Given the description of an element on the screen output the (x, y) to click on. 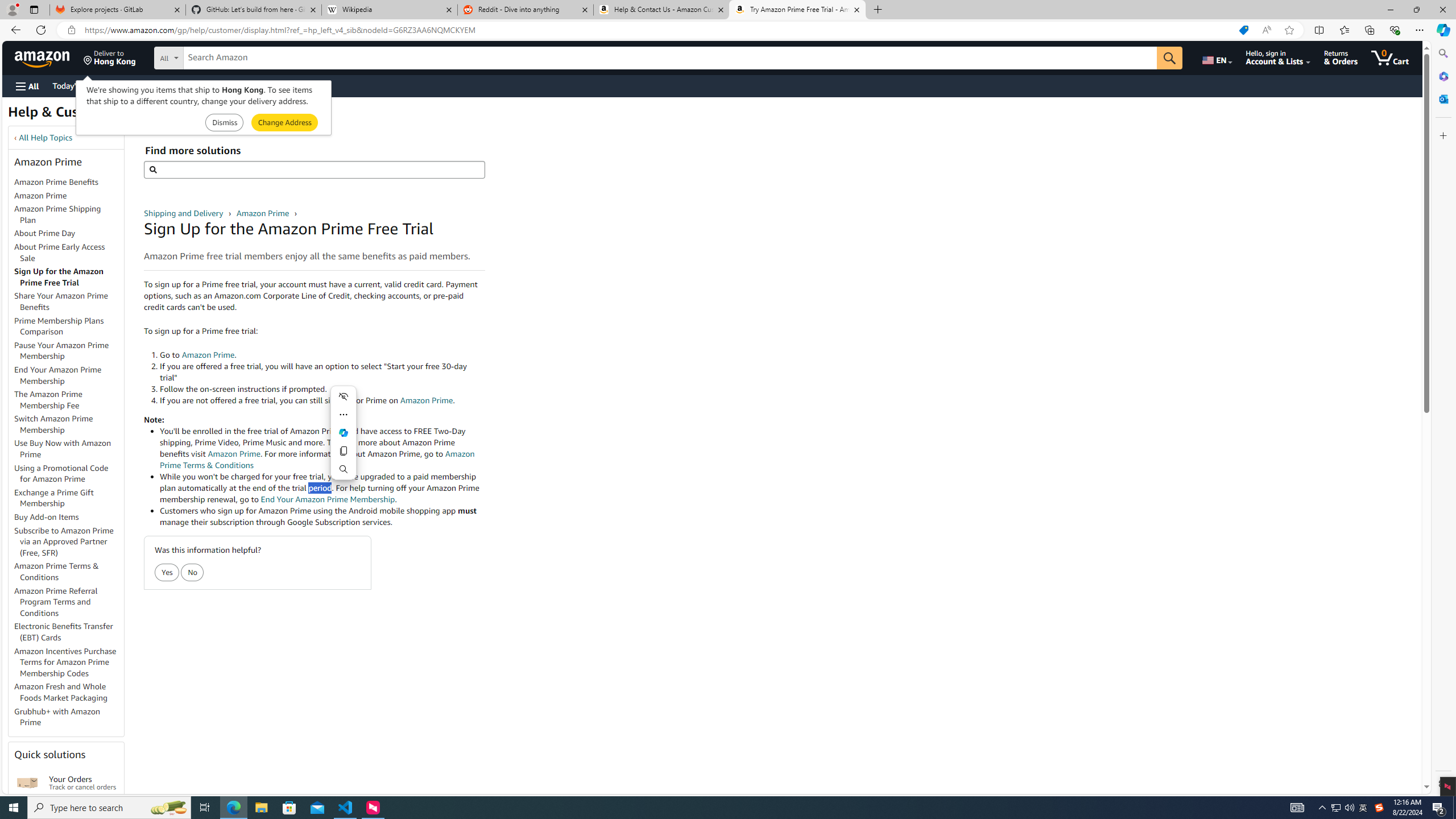
Amazon Prime (68, 196)
Hide menu (343, 396)
Use Buy Now with Amazon Prime (63, 449)
Go (1169, 57)
Prime Membership Plans Comparison (58, 326)
About Prime Early Access Sale (59, 251)
Amazon Prime Referral Program Terms and Conditions (55, 601)
Prime Membership Plans Comparison (68, 326)
Your Orders (27, 782)
Amazon Fresh and Whole Foods Market Packaging (68, 692)
Buy Add-on Items (46, 516)
